Given the description of an element on the screen output the (x, y) to click on. 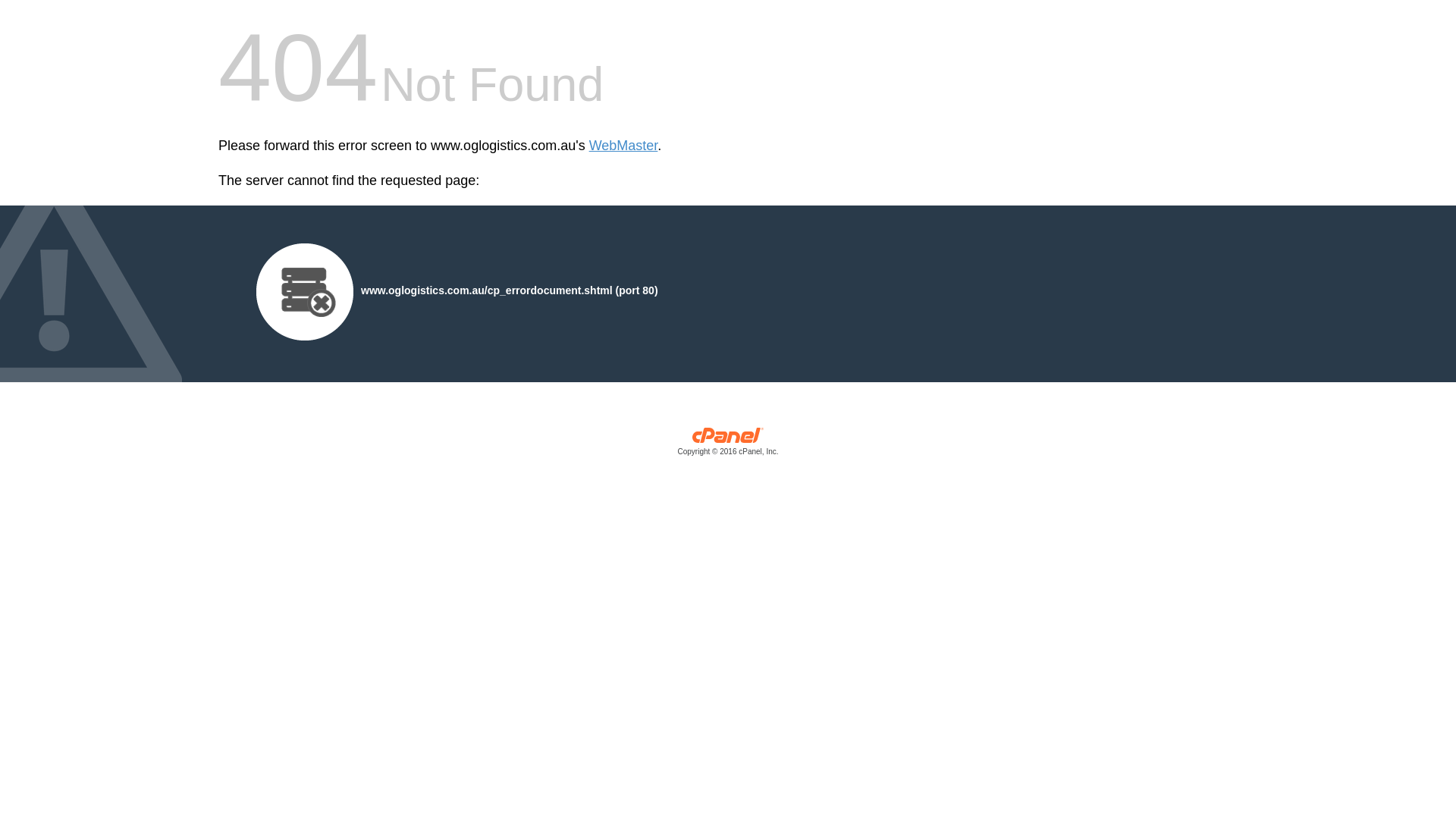
WebMaster Element type: text (623, 145)
